Given the description of an element on the screen output the (x, y) to click on. 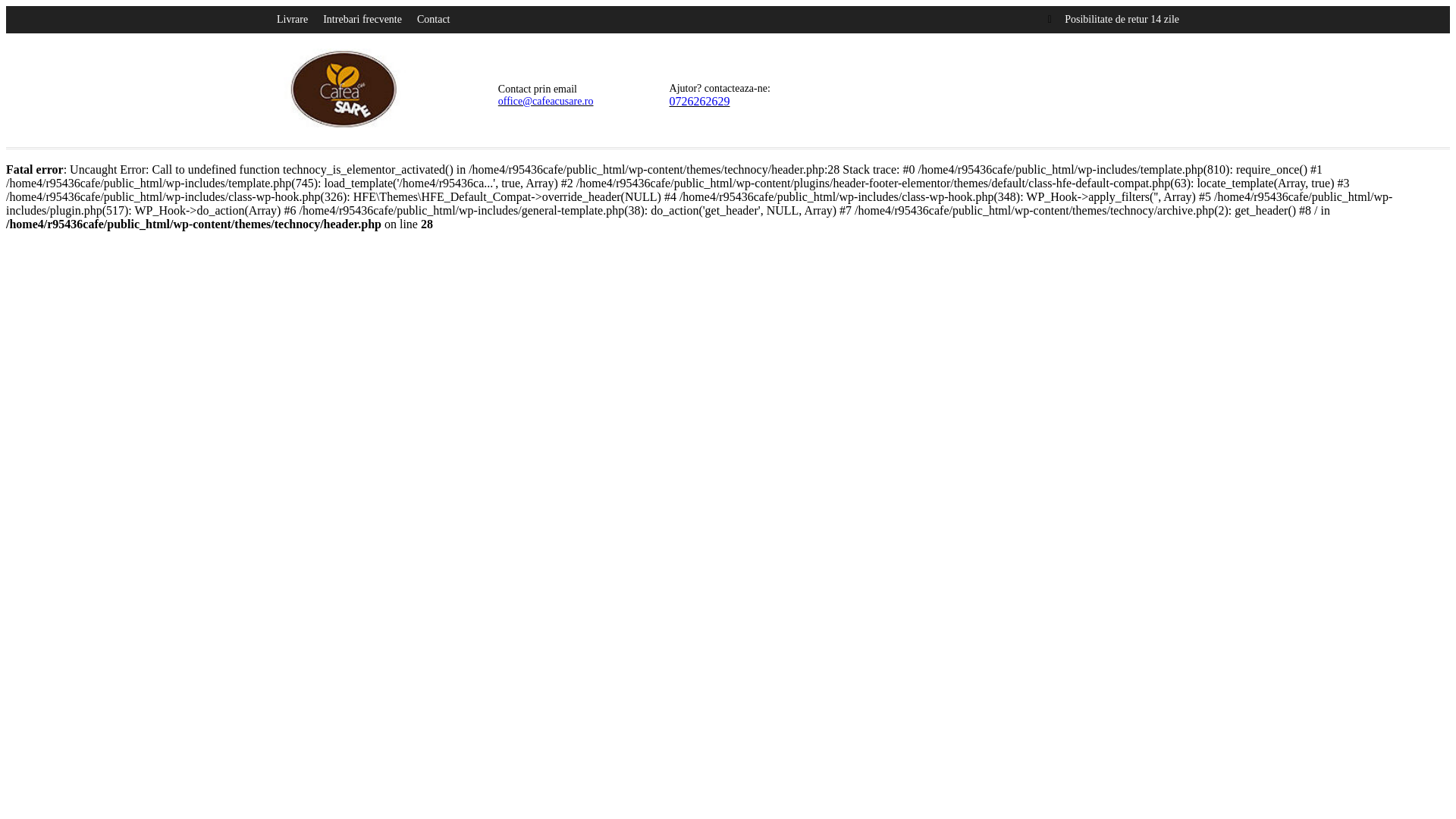
Livrare (291, 19)
0726262629 (699, 101)
Ajutor? contacteaza-ne: (719, 88)
Intrebari frecvente (362, 19)
Contact (432, 19)
